Given the description of an element on the screen output the (x, y) to click on. 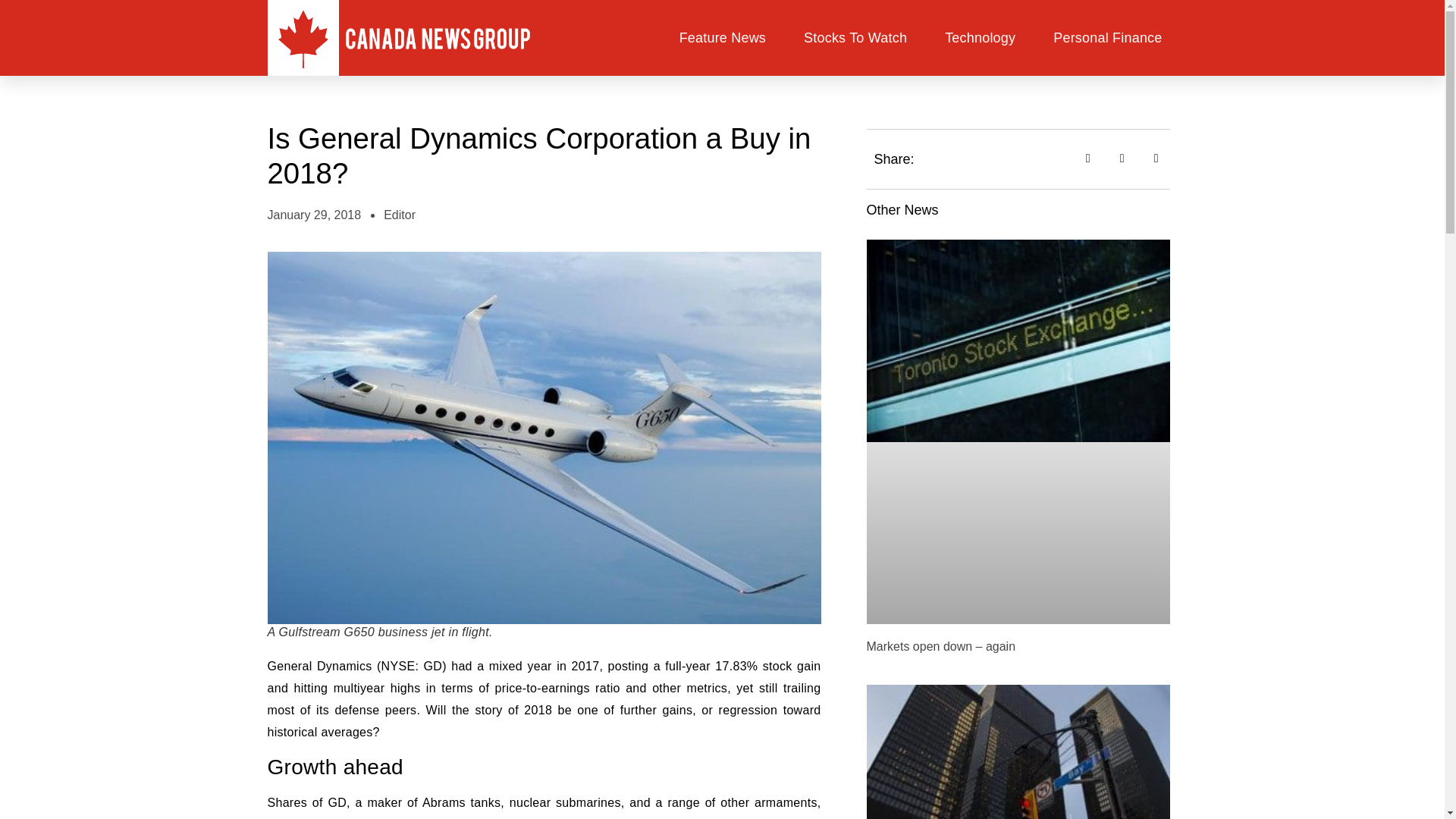
Feature News (722, 38)
Editor (399, 215)
January 29, 2018 (313, 215)
Stocks To Watch (855, 38)
Technology (979, 38)
Personal Finance (1106, 38)
